Given the description of an element on the screen output the (x, y) to click on. 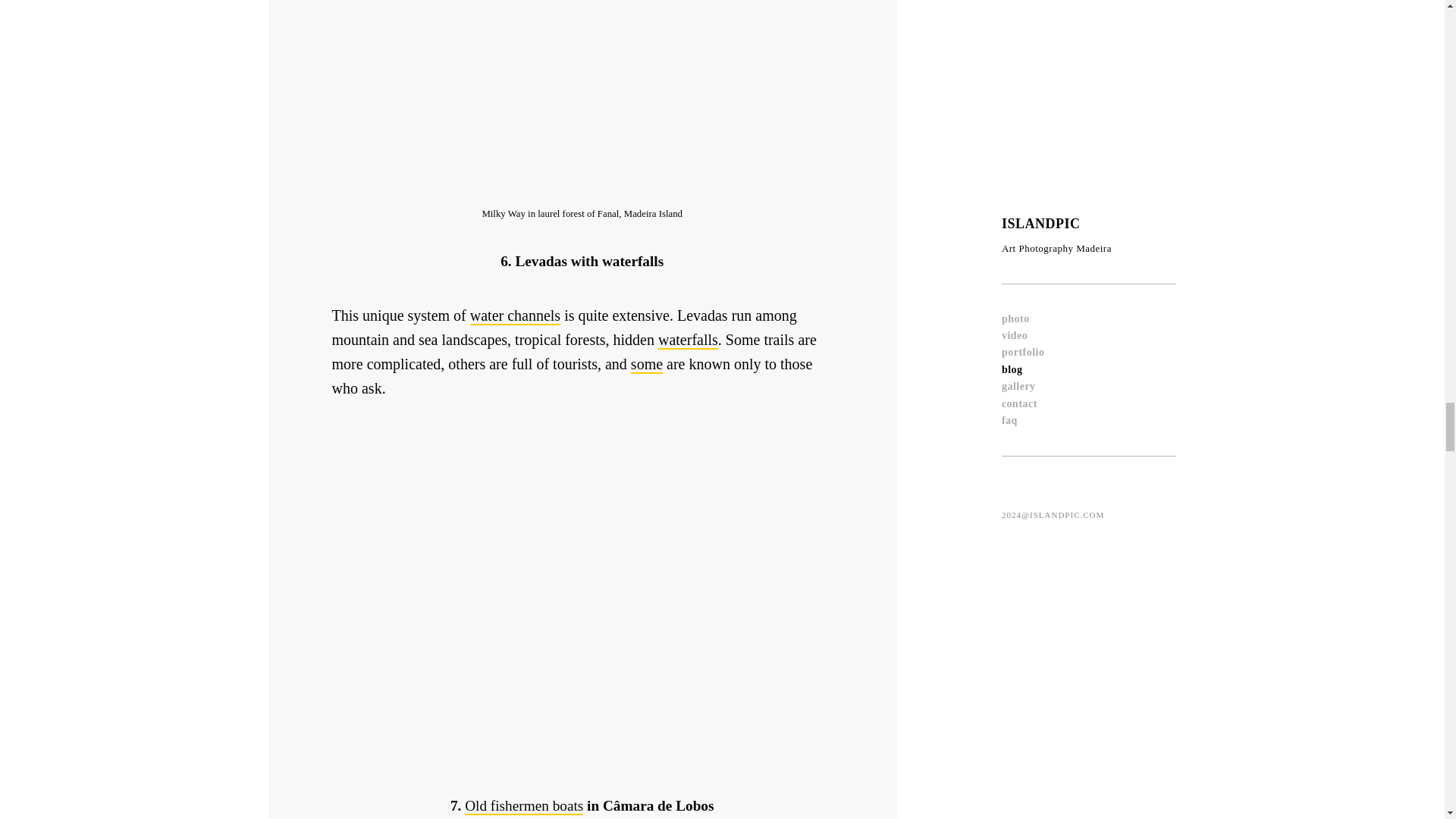
water channels (515, 316)
waterfalls (687, 340)
